Given the description of an element on the screen output the (x, y) to click on. 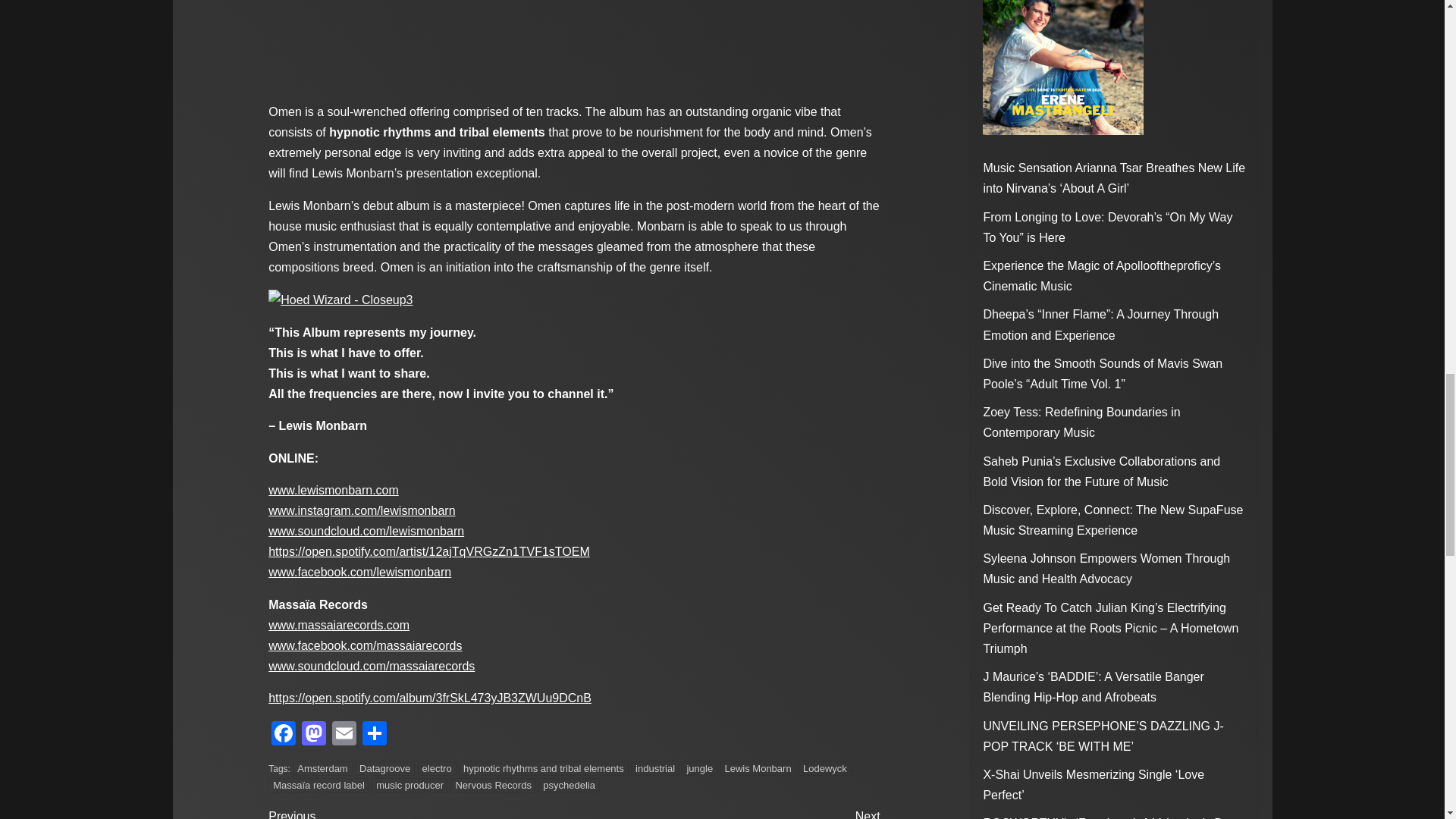
www.lewismonbarn.com (332, 490)
www.massaiarecords.com (338, 625)
Facebook (282, 735)
Hoed   Wizard - Closeup3 (339, 299)
Mastodon (313, 735)
Email (344, 735)
